Given the description of an element on the screen output the (x, y) to click on. 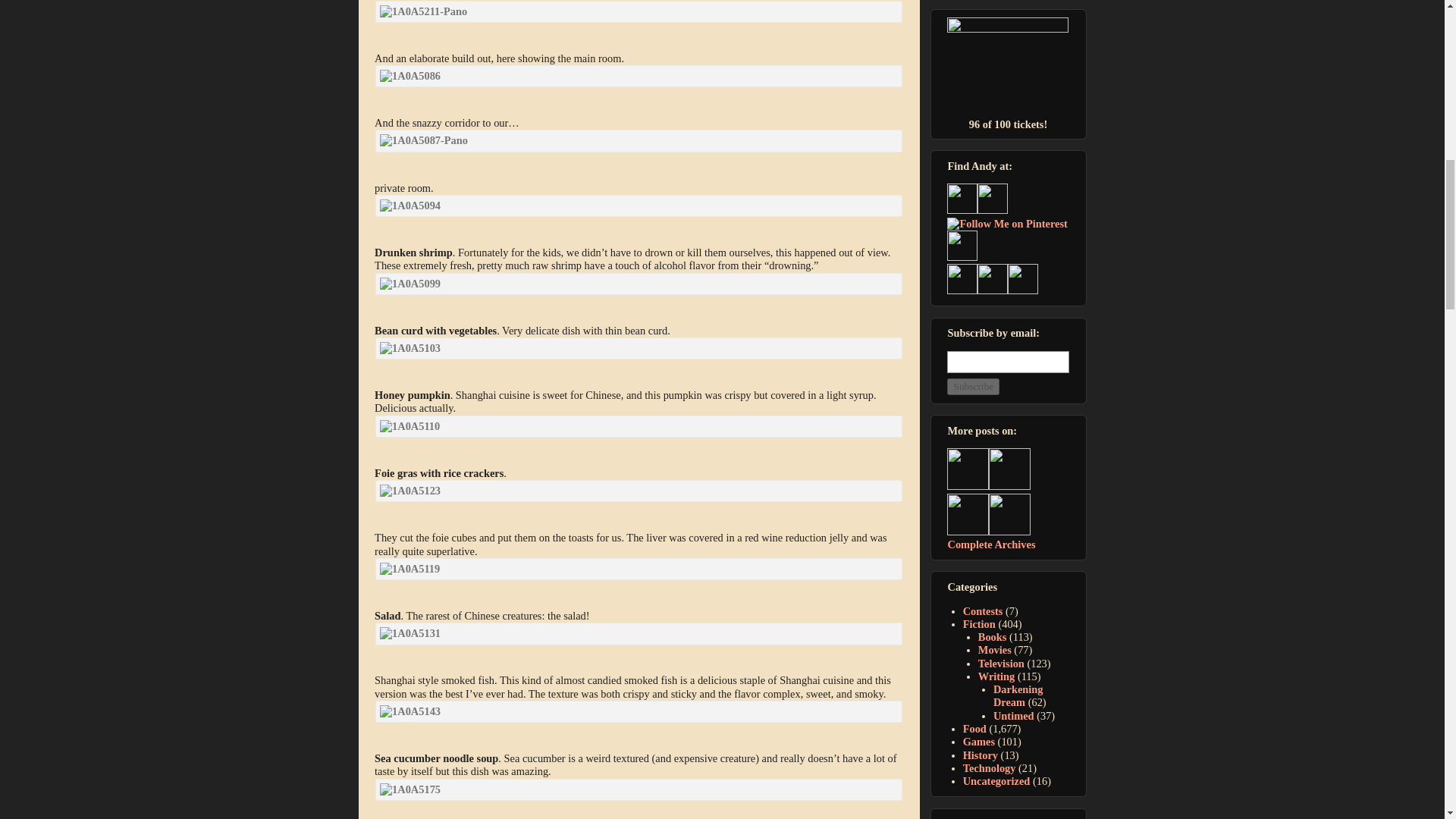
Subscribe (972, 386)
Contest Rules (1007, 67)
